Given the description of an element on the screen output the (x, y) to click on. 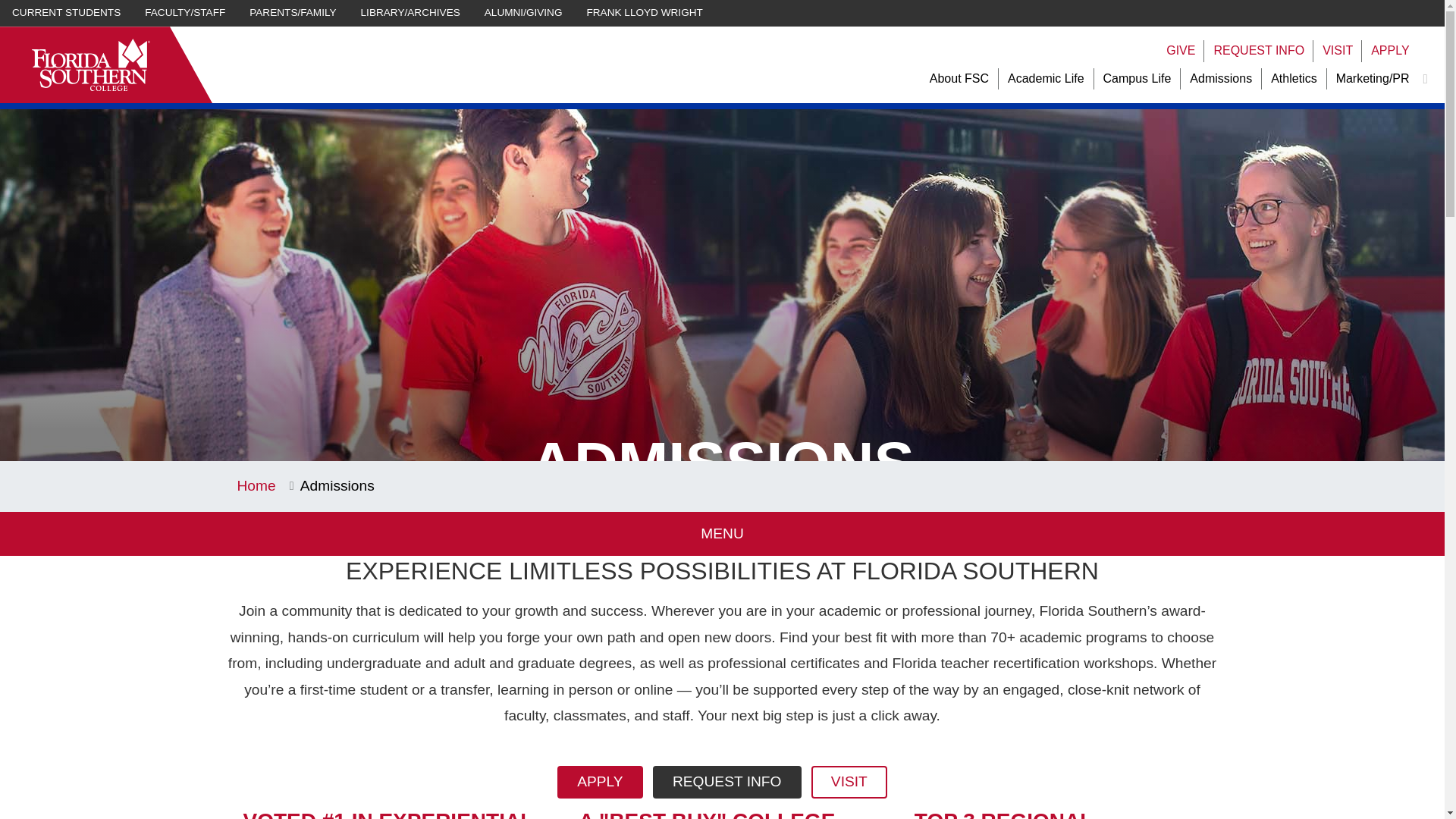
FRANK LLOYD WRIGHT (644, 13)
About FSC (959, 78)
CURRENT STUDENTS (65, 13)
VISIT (1337, 51)
REQUEST INFO (1258, 51)
Campus Life (1137, 78)
Admissions (1220, 78)
APPLY (1390, 51)
Athletics (1293, 78)
GIVE (1180, 51)
Academic Life (1045, 78)
